Given the description of an element on the screen output the (x, y) to click on. 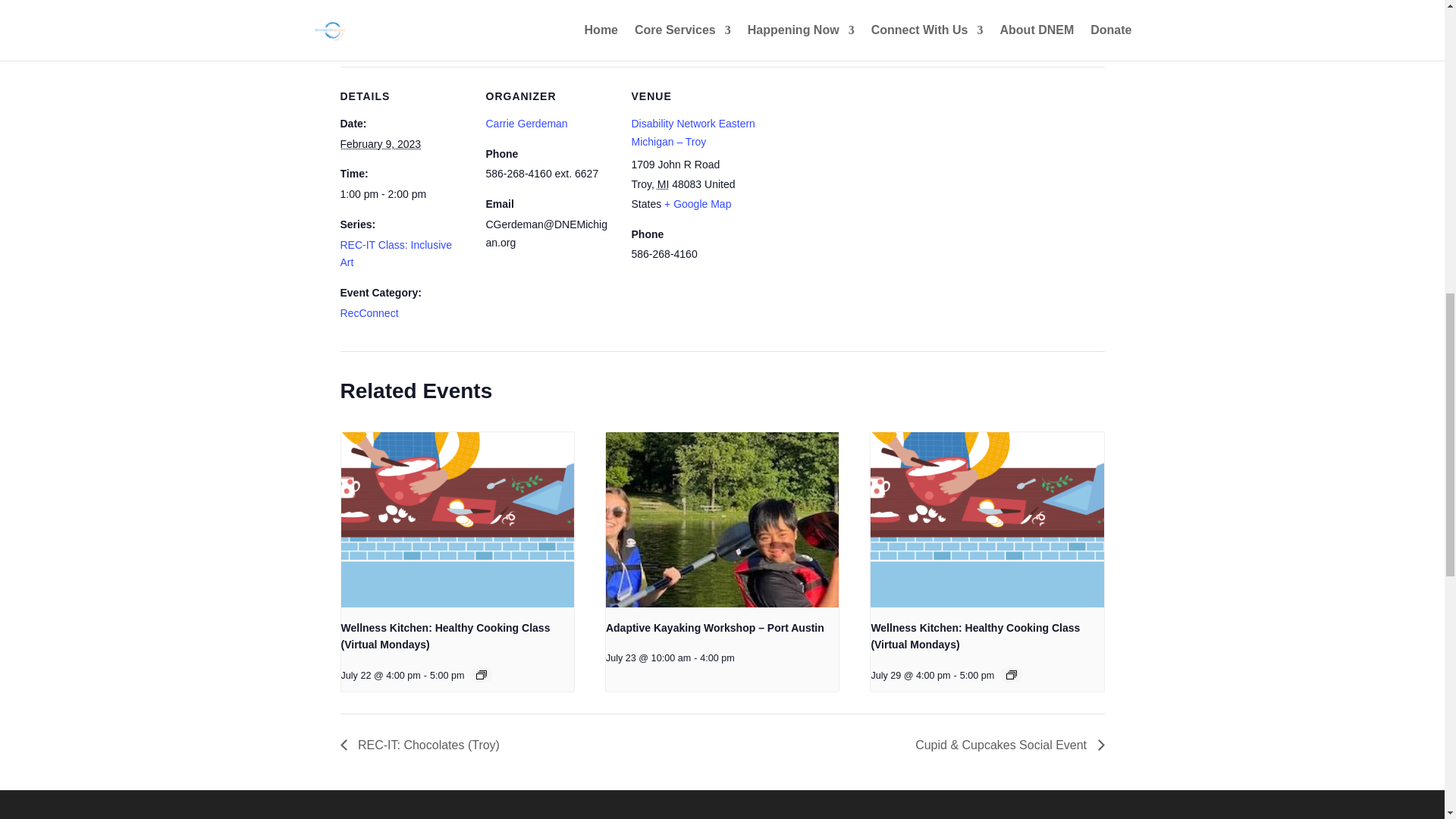
Click to view a Google Map (696, 203)
Event Series (481, 674)
Carrie Gerdeman (525, 123)
Event Series (1011, 674)
2023-02-09 (379, 143)
Michigan (663, 183)
2023-02-09 (403, 194)
REC-IT Class: Inclusive Art (395, 254)
